Given the description of an element on the screen output the (x, y) to click on. 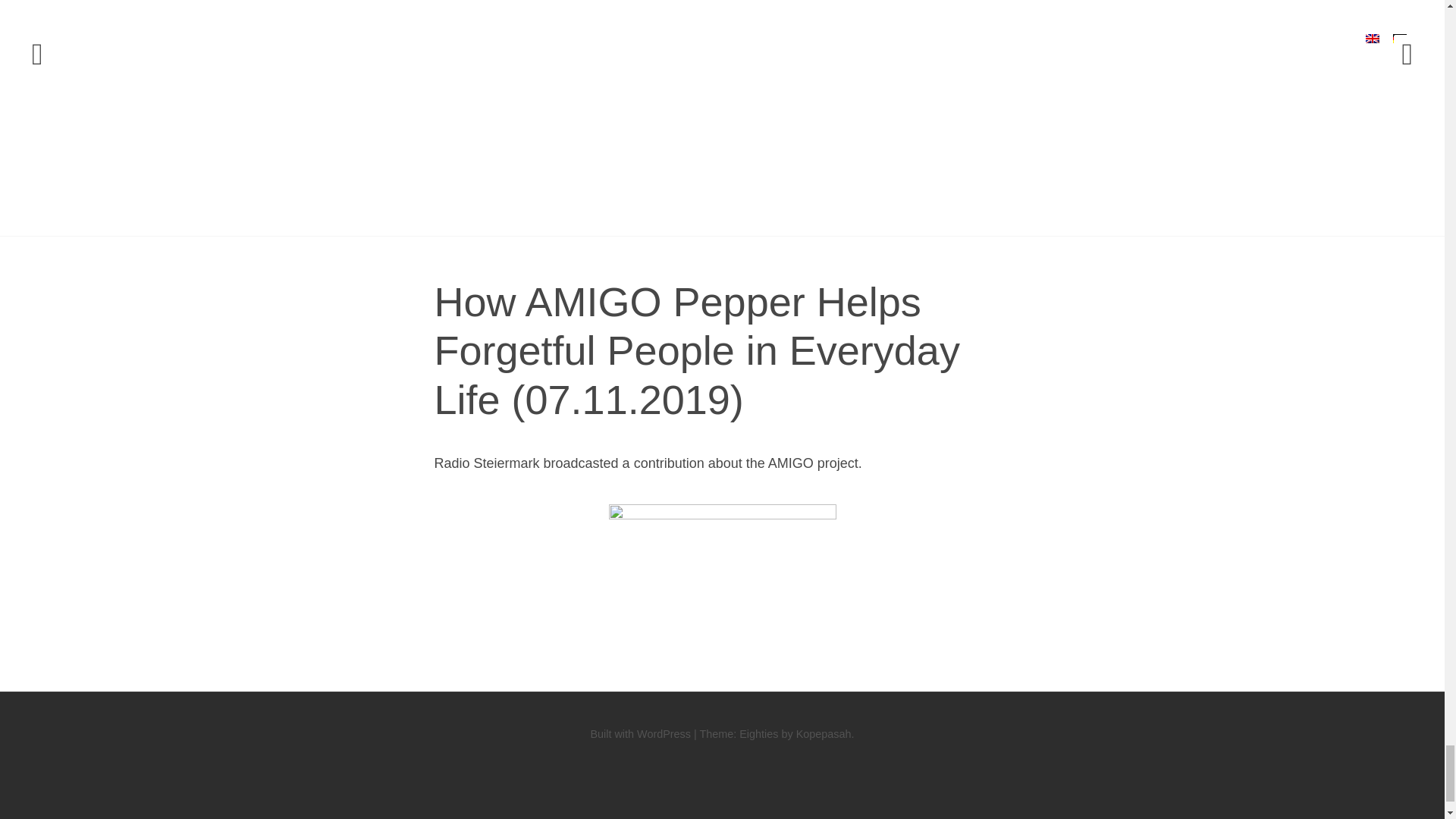
Built with WordPress (639, 734)
Kopepasah (823, 734)
Eighties (758, 734)
